Given the description of an element on the screen output the (x, y) to click on. 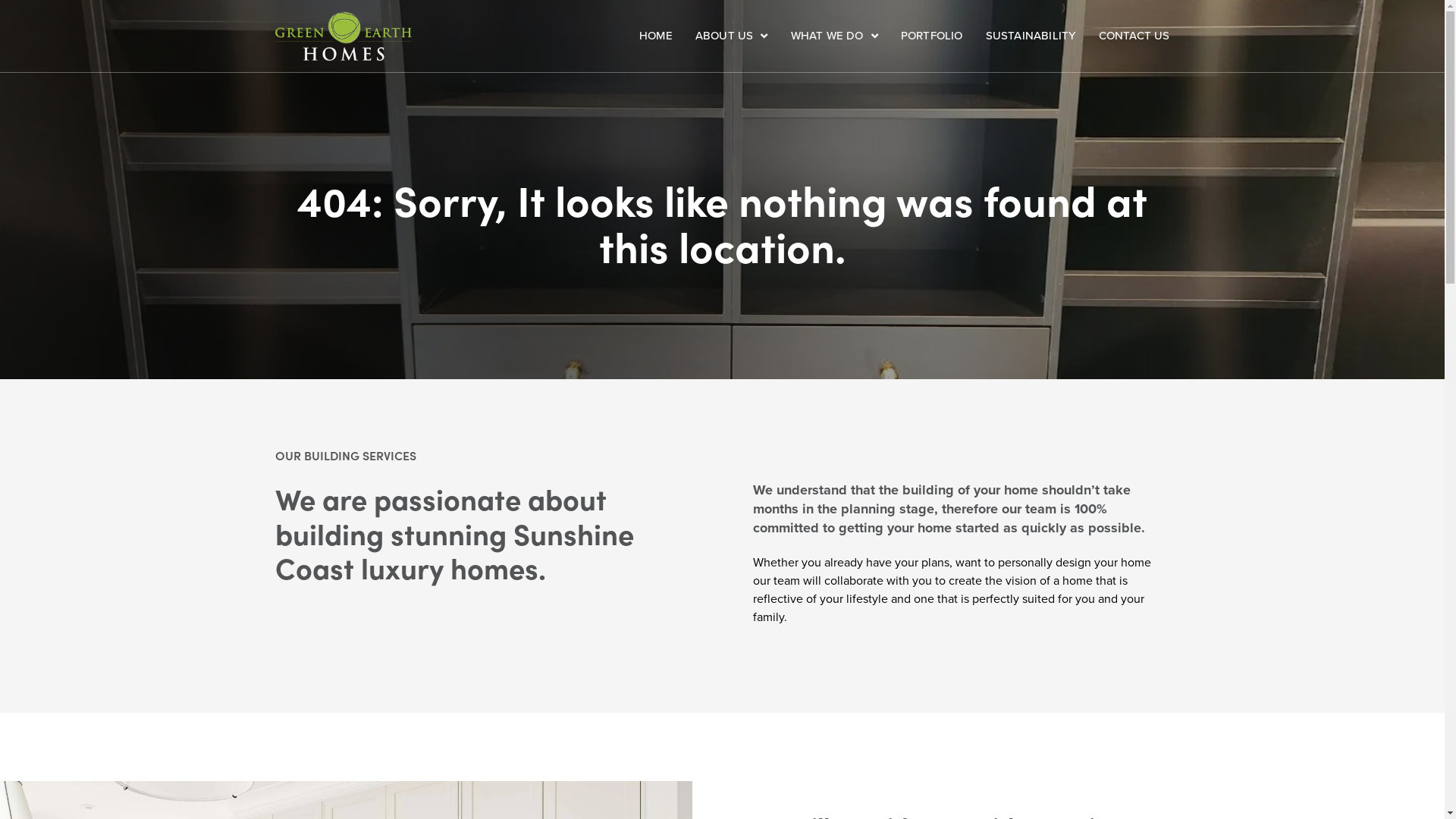
SUSTAINABILITY Element type: text (1030, 35)
PORTFOLIO Element type: text (931, 35)
CONTACT US Element type: text (1133, 35)
WHAT WE DO Element type: text (834, 35)
ABOUT US Element type: text (731, 35)
GEH-Logo-white Element type: hover (342, 35)
HOME Element type: text (655, 35)
